Given the description of an element on the screen output the (x, y) to click on. 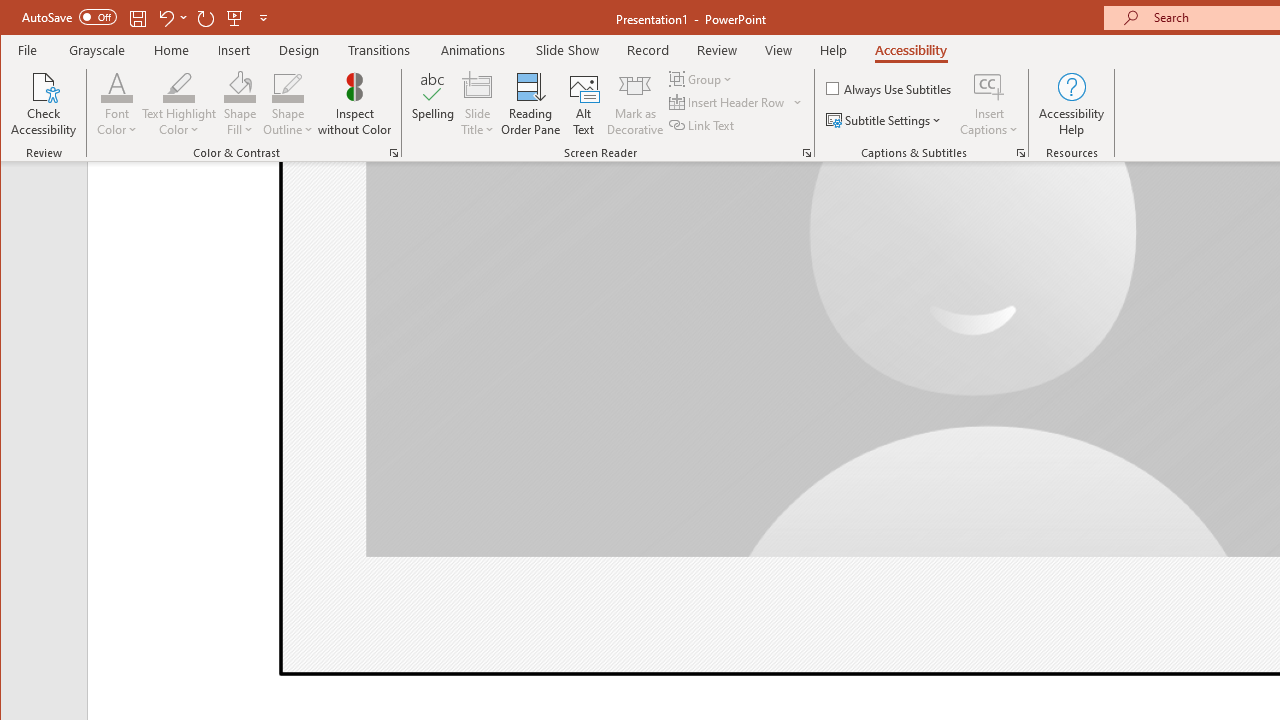
Color & Contrast (393, 152)
Subtitle Settings (885, 119)
